Given the description of an element on the screen output the (x, y) to click on. 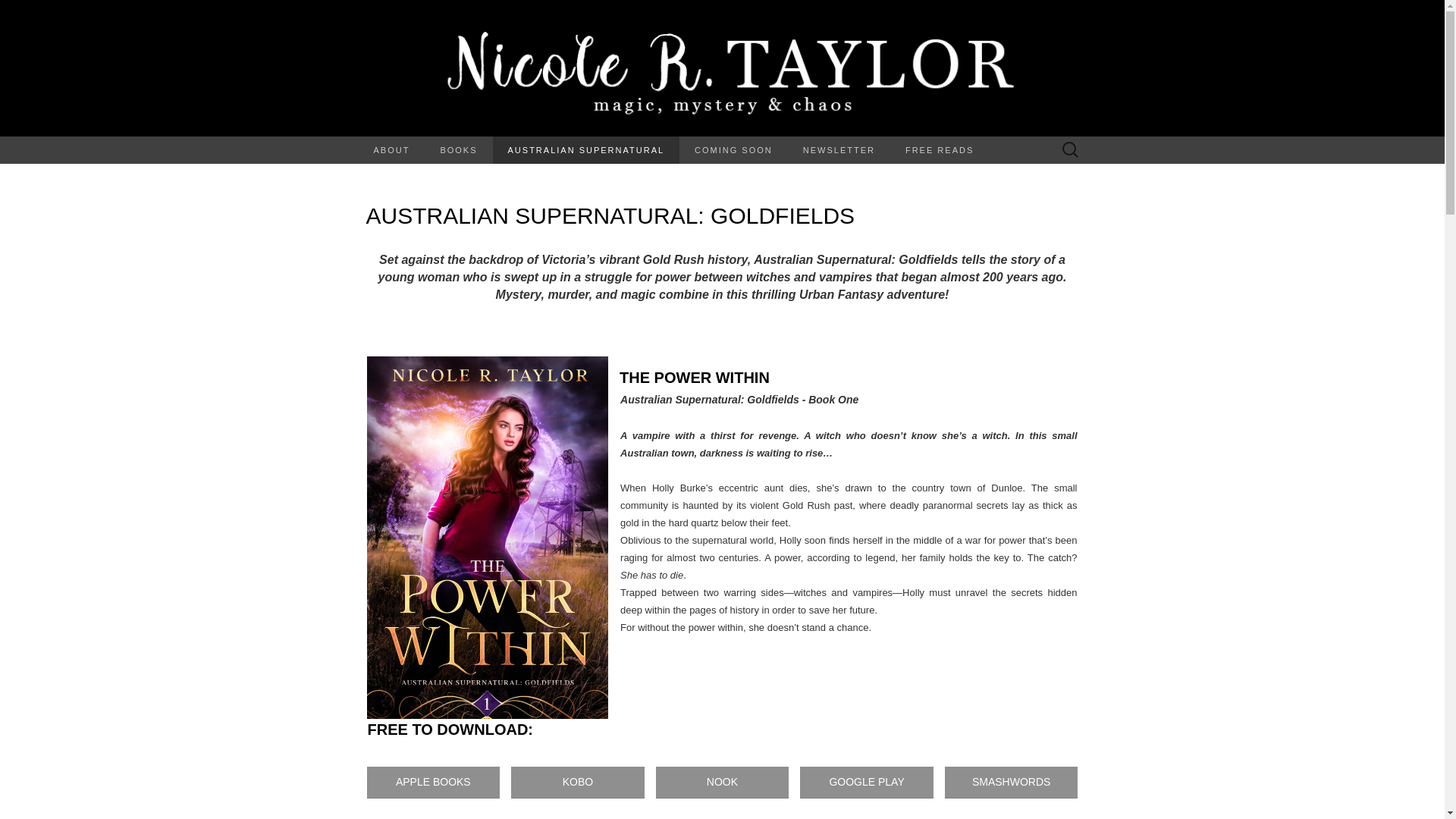
KOBO (578, 782)
APPLE BOOKS (433, 782)
BOOKS (458, 149)
Search (16, 12)
NEWSLETTER (838, 149)
COMING SOON (733, 149)
GOOGLE PLAY (866, 782)
ABOUT (391, 149)
SMASHWORDS (1011, 782)
Nicole R. Taylor (722, 68)
